Given the description of an element on the screen output the (x, y) to click on. 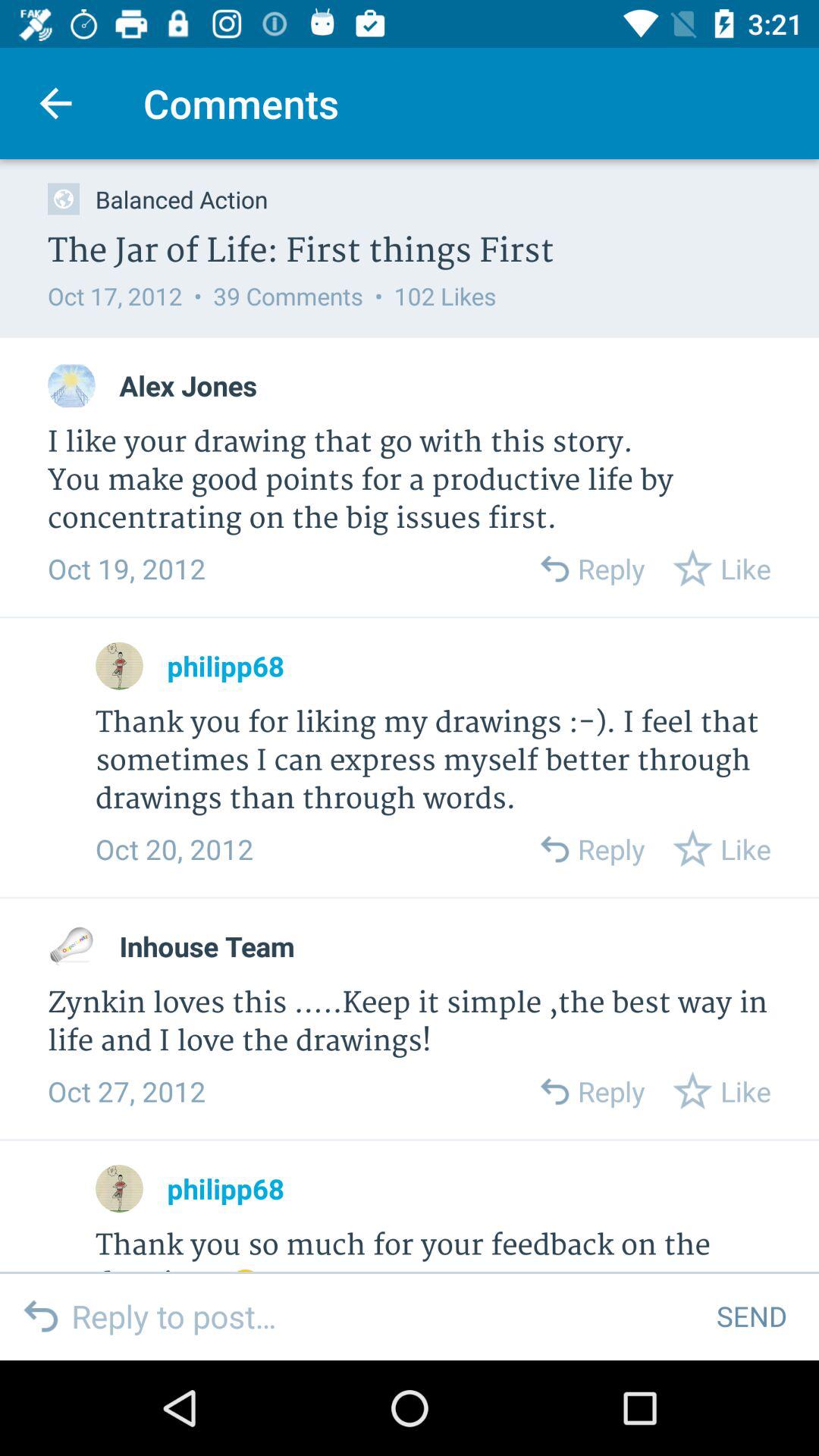
back (553, 568)
